Given the description of an element on the screen output the (x, y) to click on. 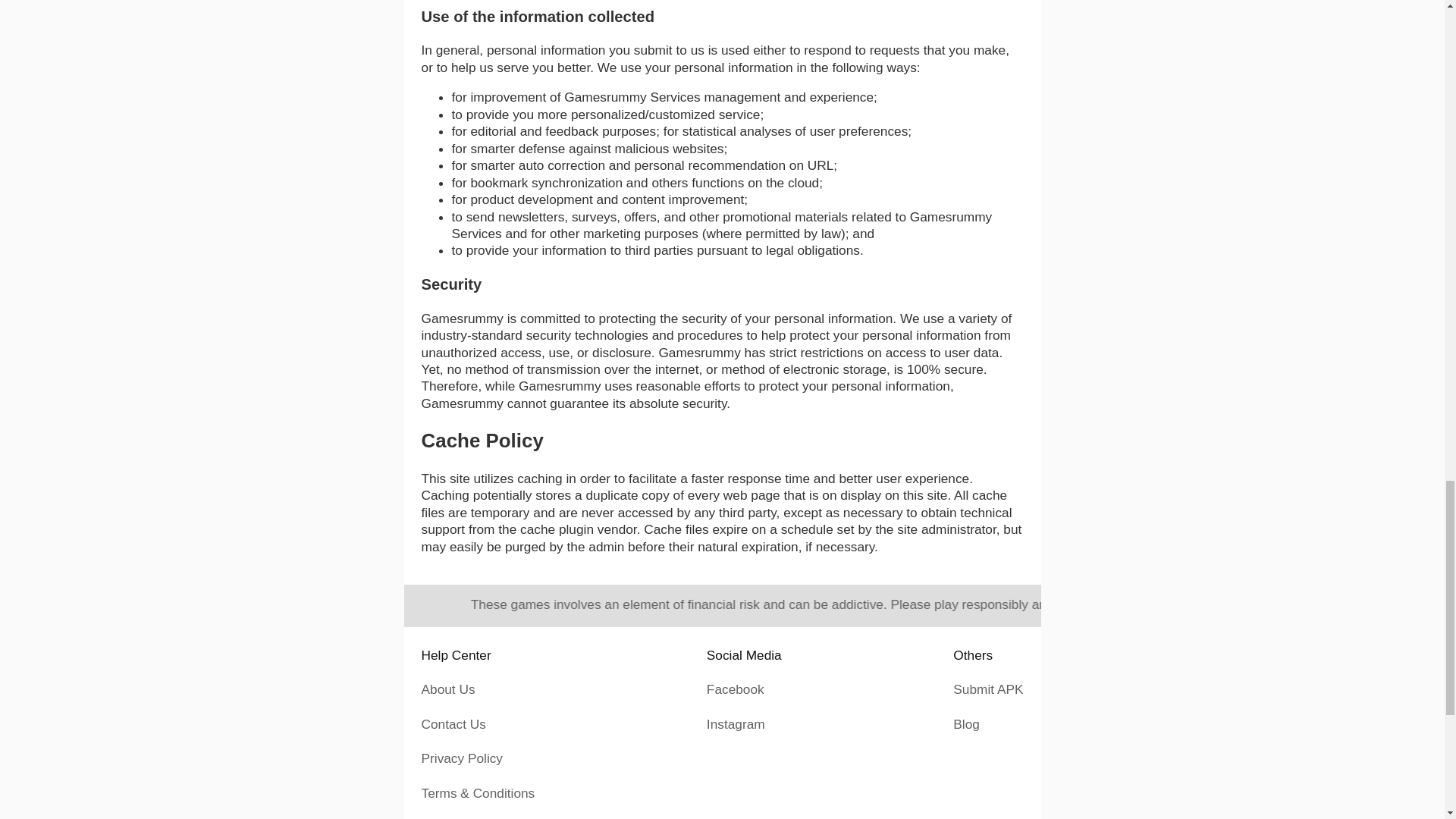
Blog (966, 724)
Instagram (735, 724)
Privacy Policy (462, 758)
Submit APK (988, 688)
About Us (449, 688)
Facebook (735, 688)
Contact Us (454, 724)
